Given the description of an element on the screen output the (x, y) to click on. 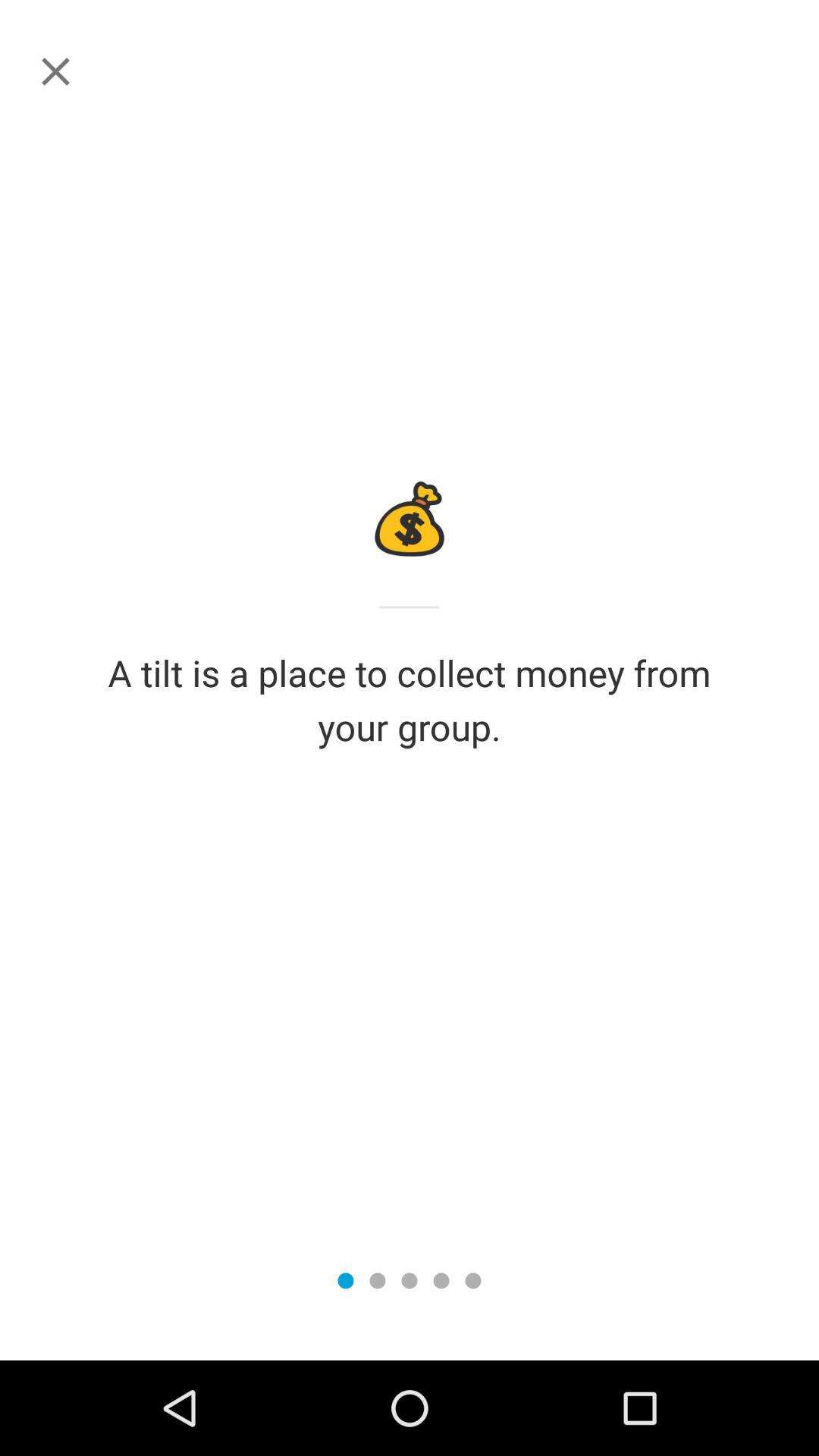
close this page (55, 71)
